Given the description of an element on the screen output the (x, y) to click on. 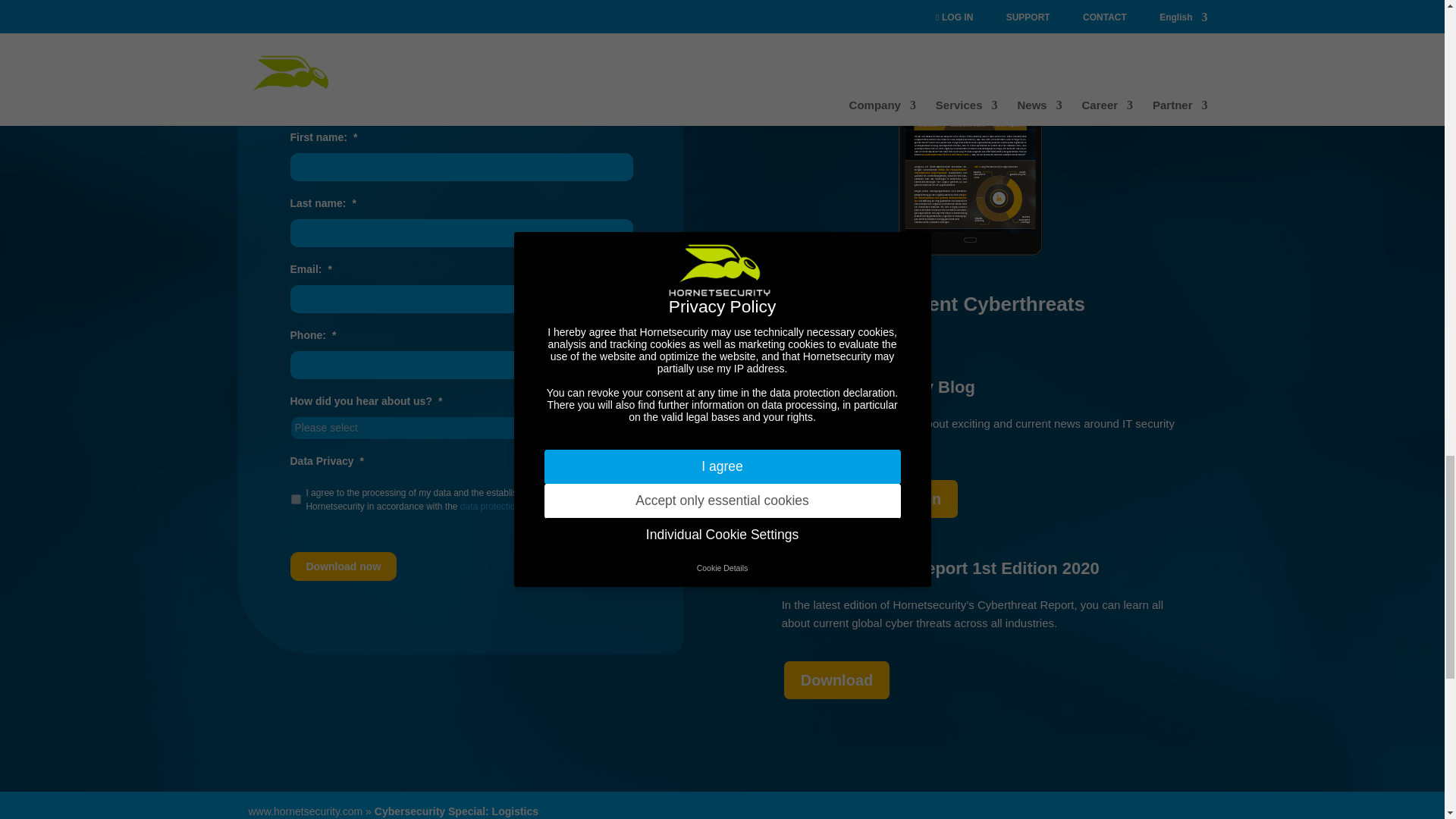
Download now (342, 566)
